Given the description of an element on the screen output the (x, y) to click on. 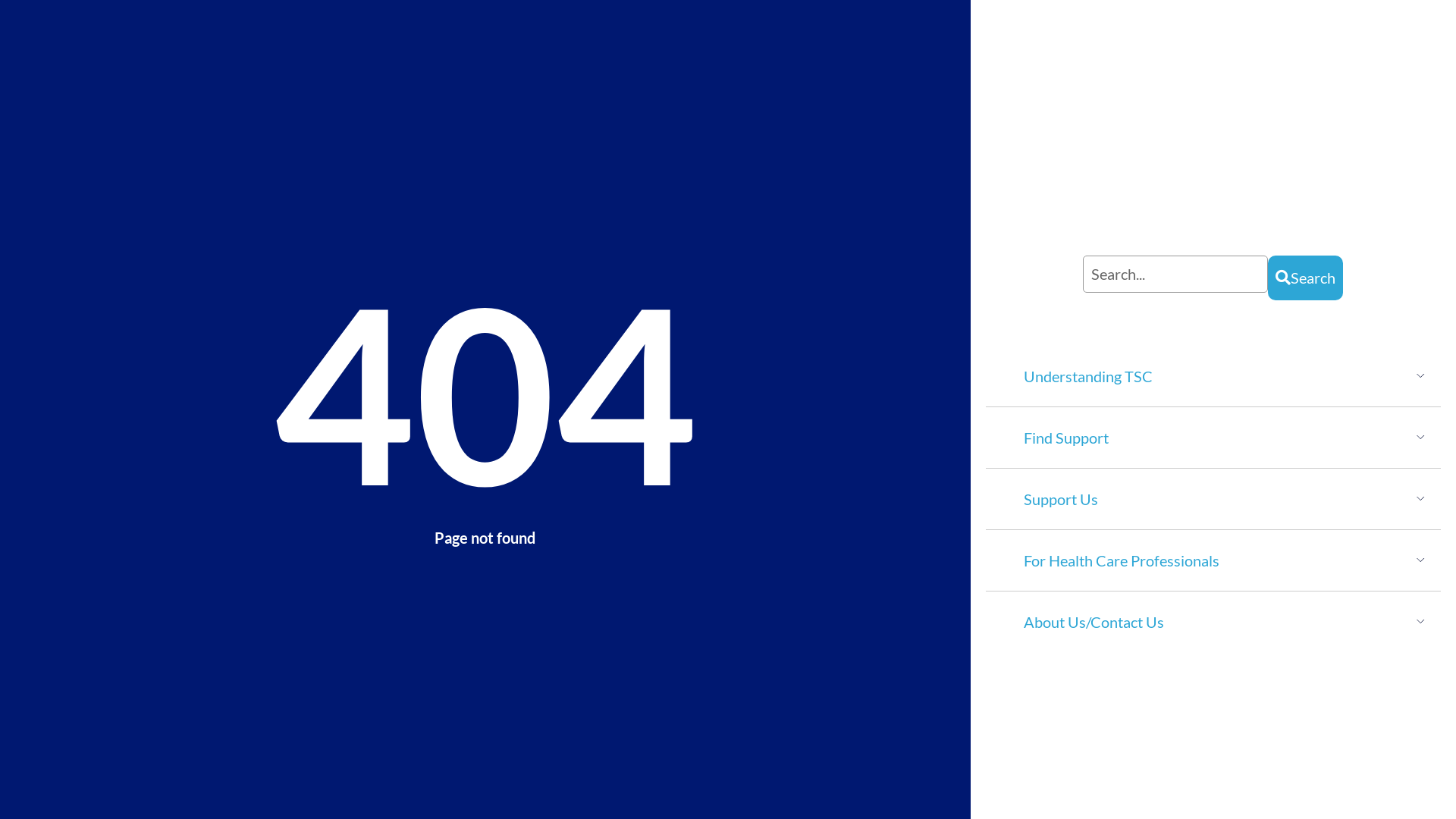
For Health Care Professionals Element type: text (1121, 560)
Understanding TSC Element type: text (1088, 375)
Search Element type: text (1305, 278)
Search Element type: hover (1174, 274)
About Us/Contact Us Element type: text (1093, 621)
Support Us Element type: text (1060, 498)
Find Support Element type: text (1066, 437)
